Given the description of an element on the screen output the (x, y) to click on. 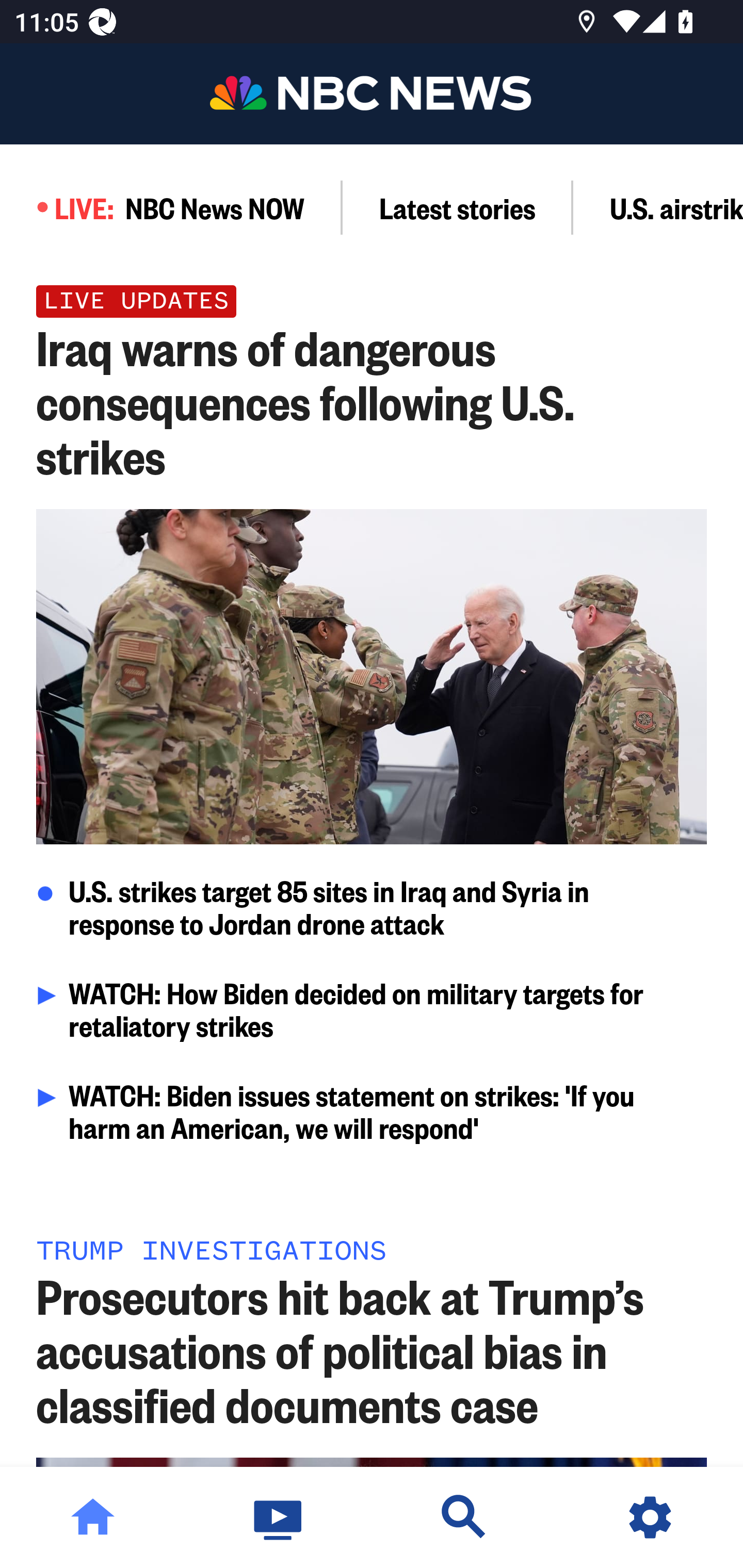
LIVE:  NBC News NOW (171, 207)
Latest stories Section,Latest stories (457, 207)
U.S. airstrikes (658, 207)
Watch (278, 1517)
Discover (464, 1517)
Settings (650, 1517)
